Given the description of an element on the screen output the (x, y) to click on. 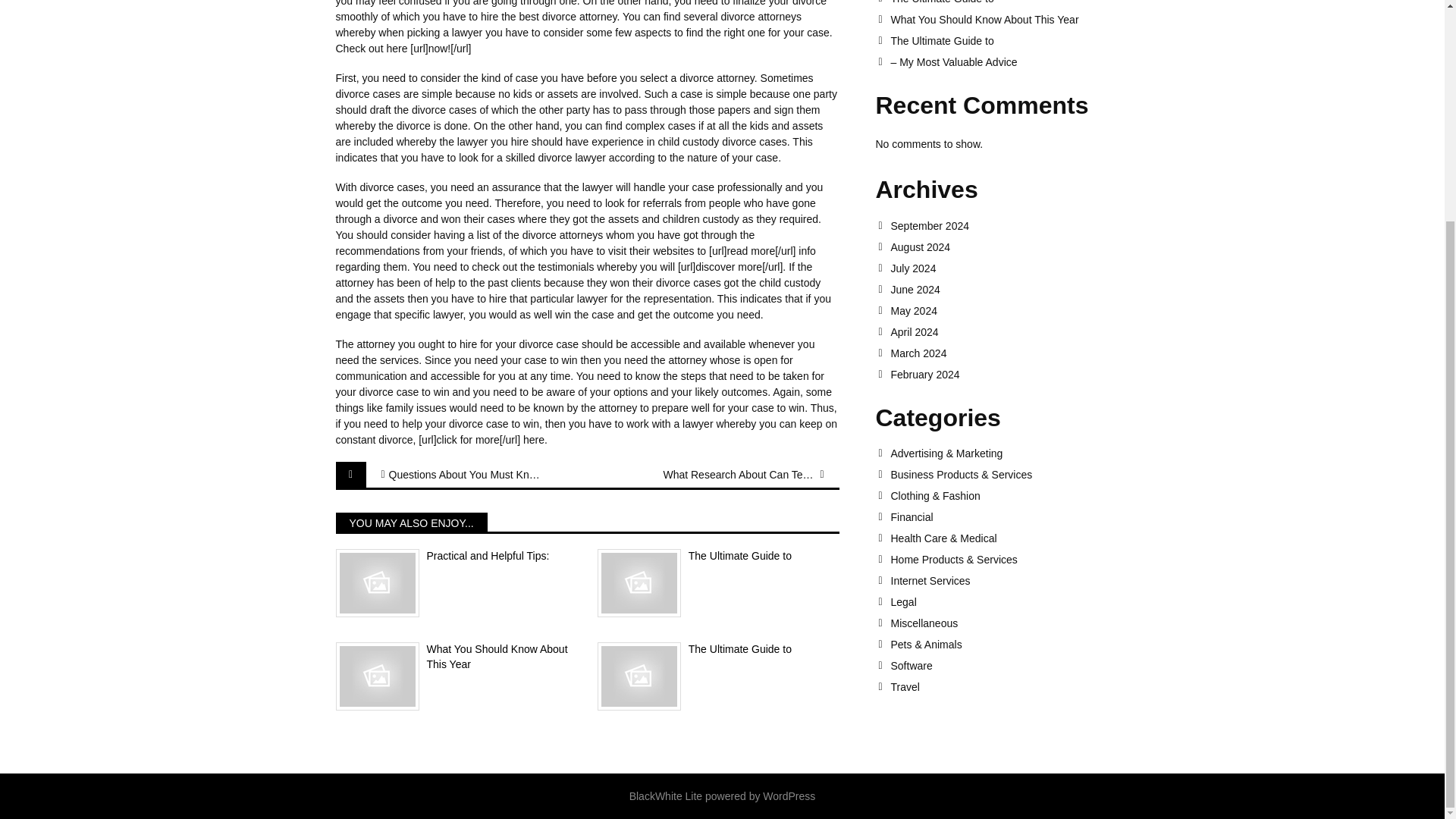
August 2024 (998, 246)
The Ultimate Guide to (718, 556)
What You Should Know About This Year (455, 656)
September 2024 (998, 225)
The Ultimate Guide to (998, 2)
July 2024 (998, 268)
February 2024 (998, 374)
Software (998, 665)
Questions About You Must Know the Answers To (464, 474)
The Ultimate Guide to (998, 40)
